Given the description of an element on the screen output the (x, y) to click on. 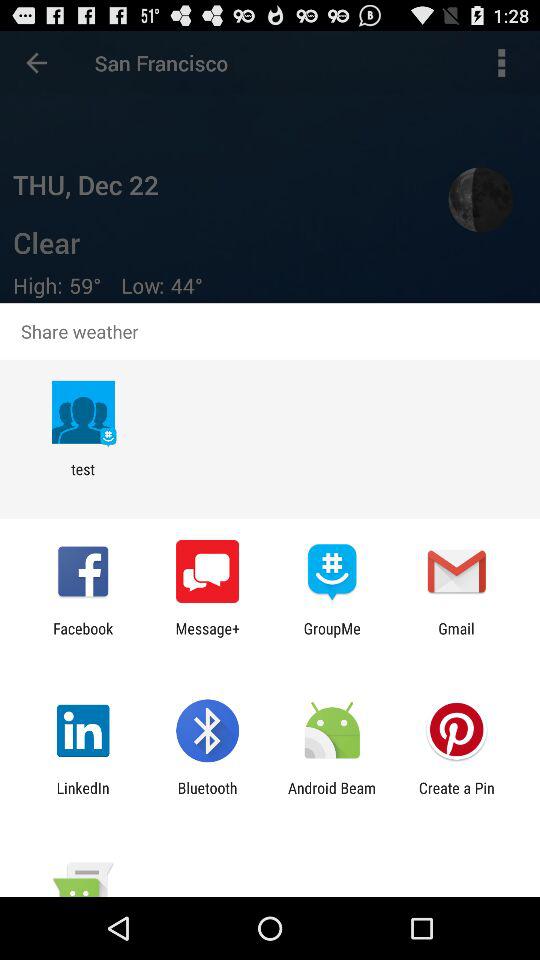
click the app to the right of the facebook (207, 637)
